Given the description of an element on the screen output the (x, y) to click on. 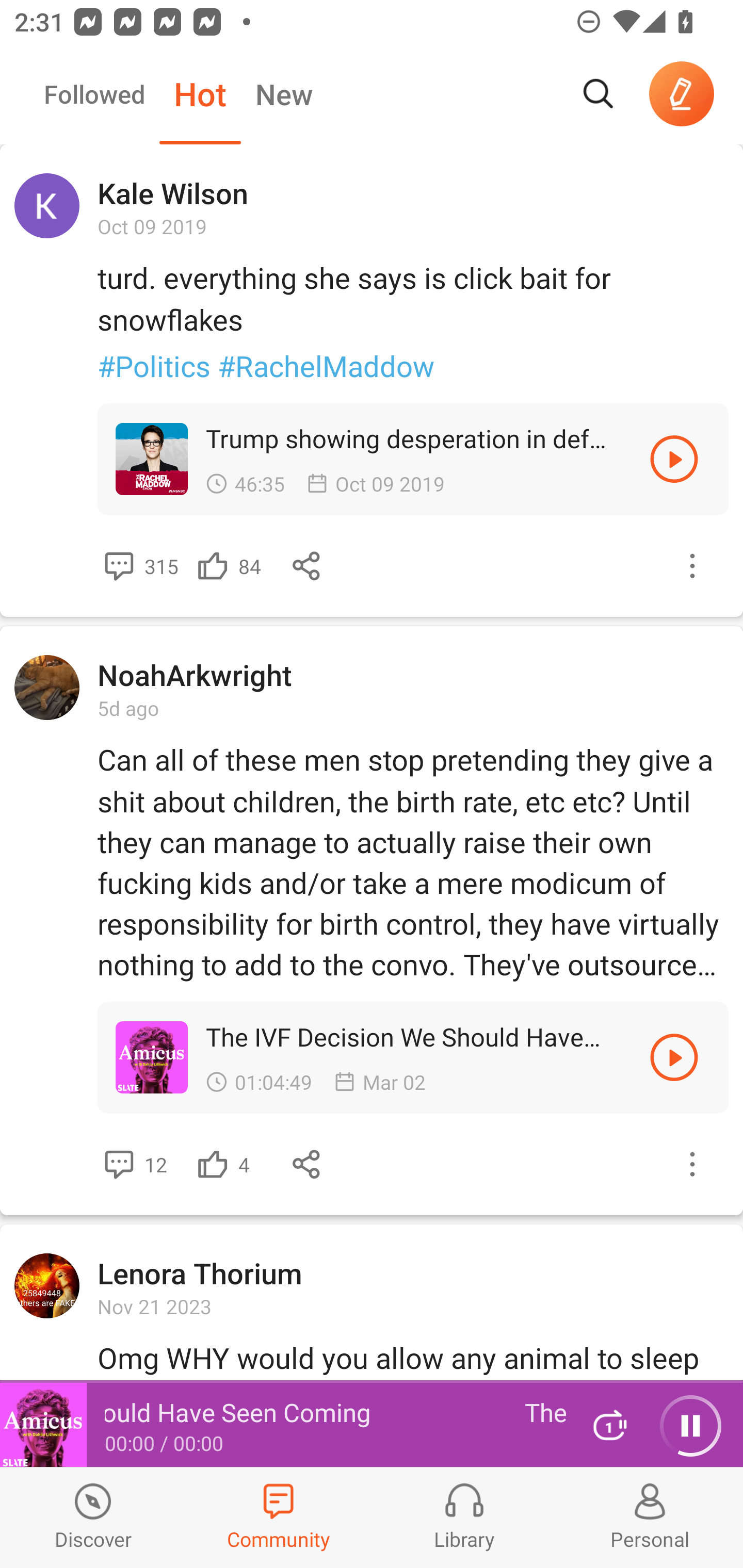
Followed (93, 93)
Hot (199, 93)
New (283, 93)
 (673, 458)
 (119, 565)
 (212, 565)
 (307, 565)
 (692, 565)
 (673, 1057)
 (119, 1164)
 (212, 1164)
 (307, 1164)
 (692, 1164)
Pause (690, 1425)
Discover (92, 1517)
Community (278, 1517)
Library (464, 1517)
Profiles and Settings Personal (650, 1517)
